Given the description of an element on the screen output the (x, y) to click on. 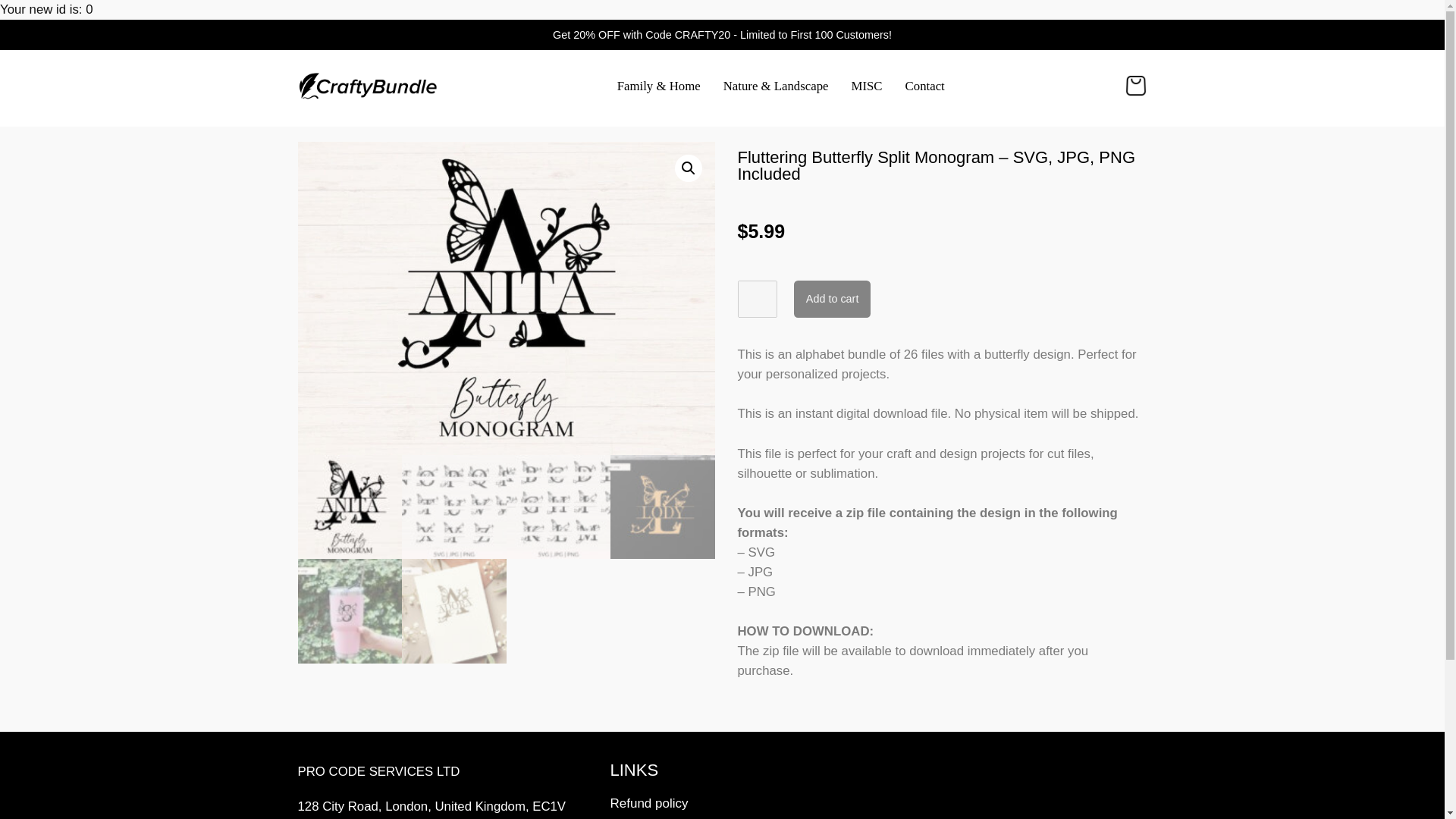
1 (756, 298)
MISC (866, 86)
Refund policy (734, 803)
Contact (924, 86)
Add to cart (831, 298)
